Given the description of an element on the screen output the (x, y) to click on. 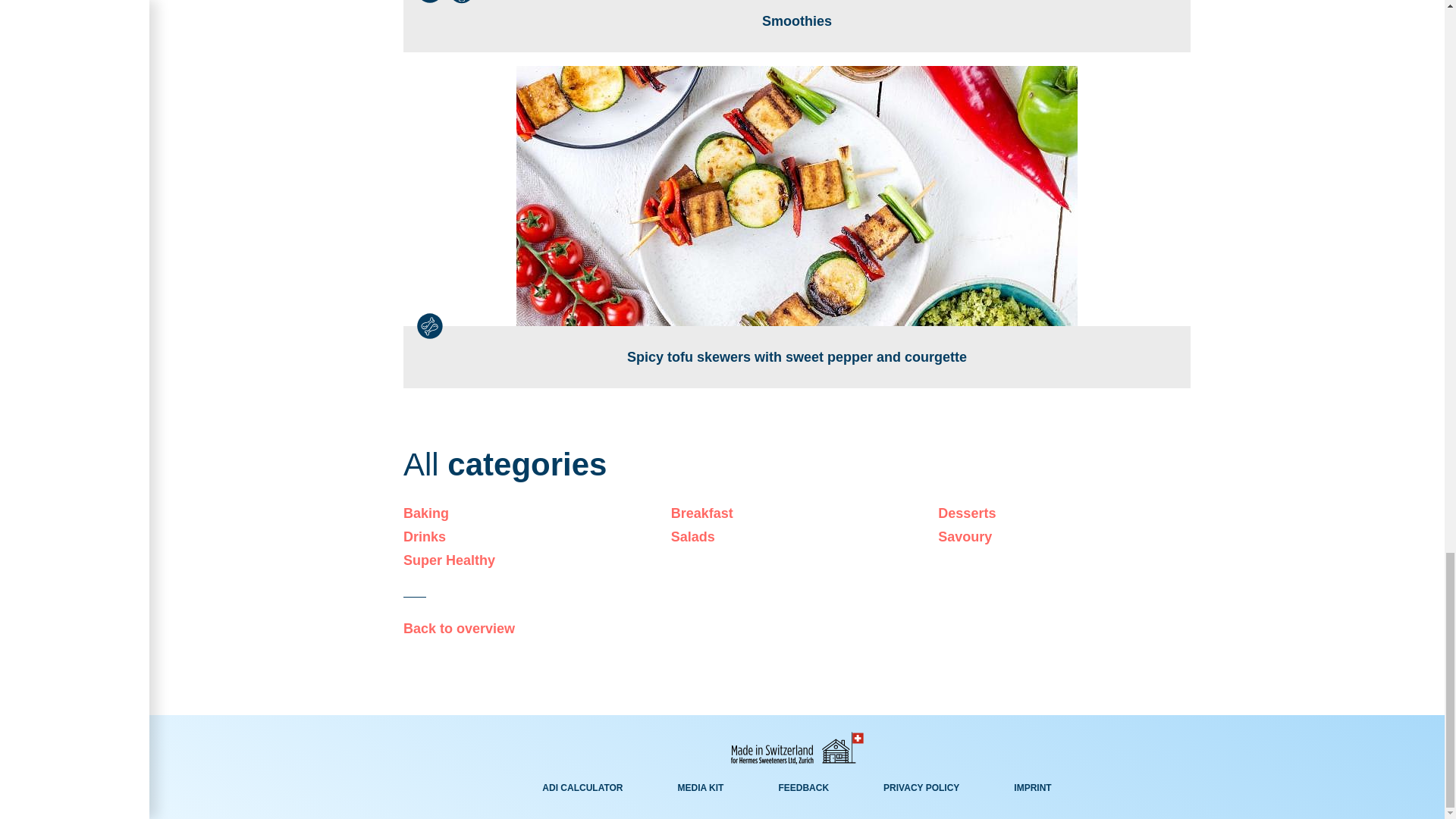
Smoothies (797, 25)
Desserts (1064, 512)
Drinks (529, 537)
Baking (529, 512)
Salads (797, 537)
Breakfast (797, 512)
